Given the description of an element on the screen output the (x, y) to click on. 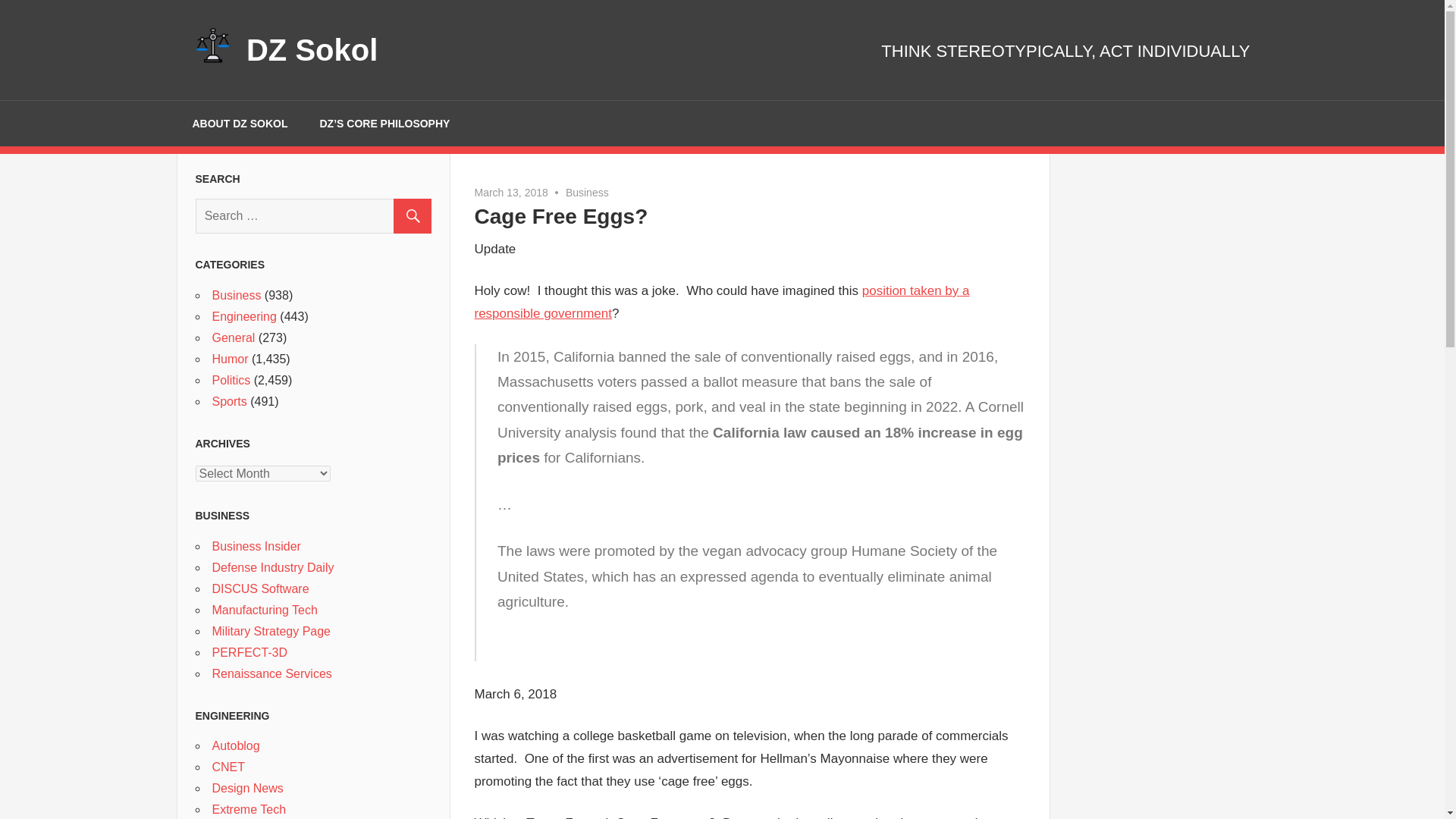
Manufacturing Tech (264, 609)
CNET (229, 766)
Ceramic 3D Printing (250, 652)
DISCUS Software (260, 588)
Design News (247, 788)
March 13, 2018 (511, 192)
PERFECT-3D (250, 652)
Autoblog (236, 745)
Sports (229, 400)
Business (237, 295)
Politics (231, 379)
Extreme Tech (249, 809)
12:26 am (511, 192)
Search for: (312, 216)
position taken by a responsible government (721, 302)
